Given the description of an element on the screen output the (x, y) to click on. 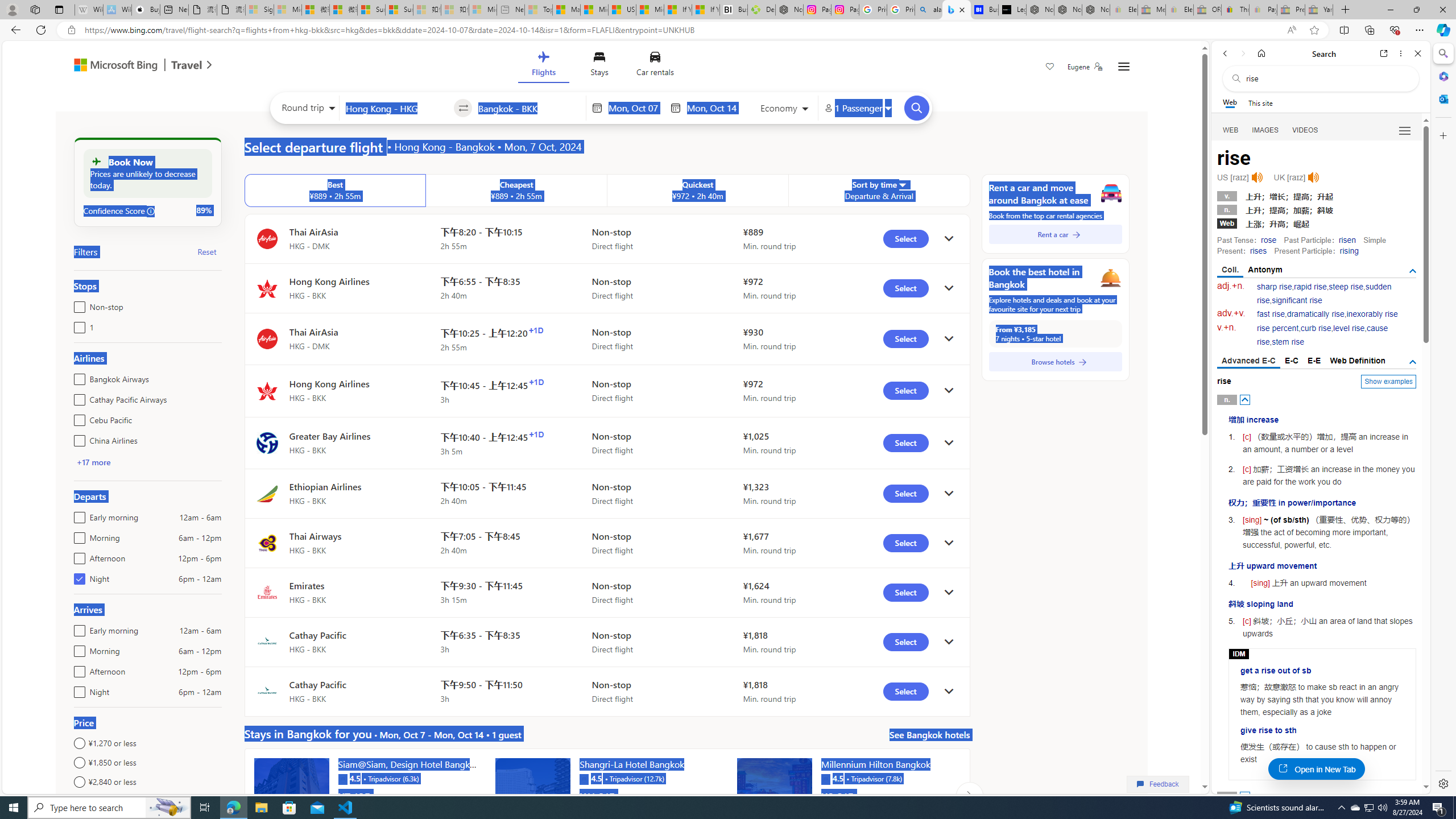
Class: msft-bing-logo msft-bing-logo-desktop (112, 64)
Flights (542, 65)
AutomationID: posbtn_0 (1245, 399)
AutomationID: posbtn_1 (1245, 796)
AutomationID: tgsb (1412, 270)
Flight logo (267, 691)
stem rise (1287, 341)
